Given the description of an element on the screen output the (x, y) to click on. 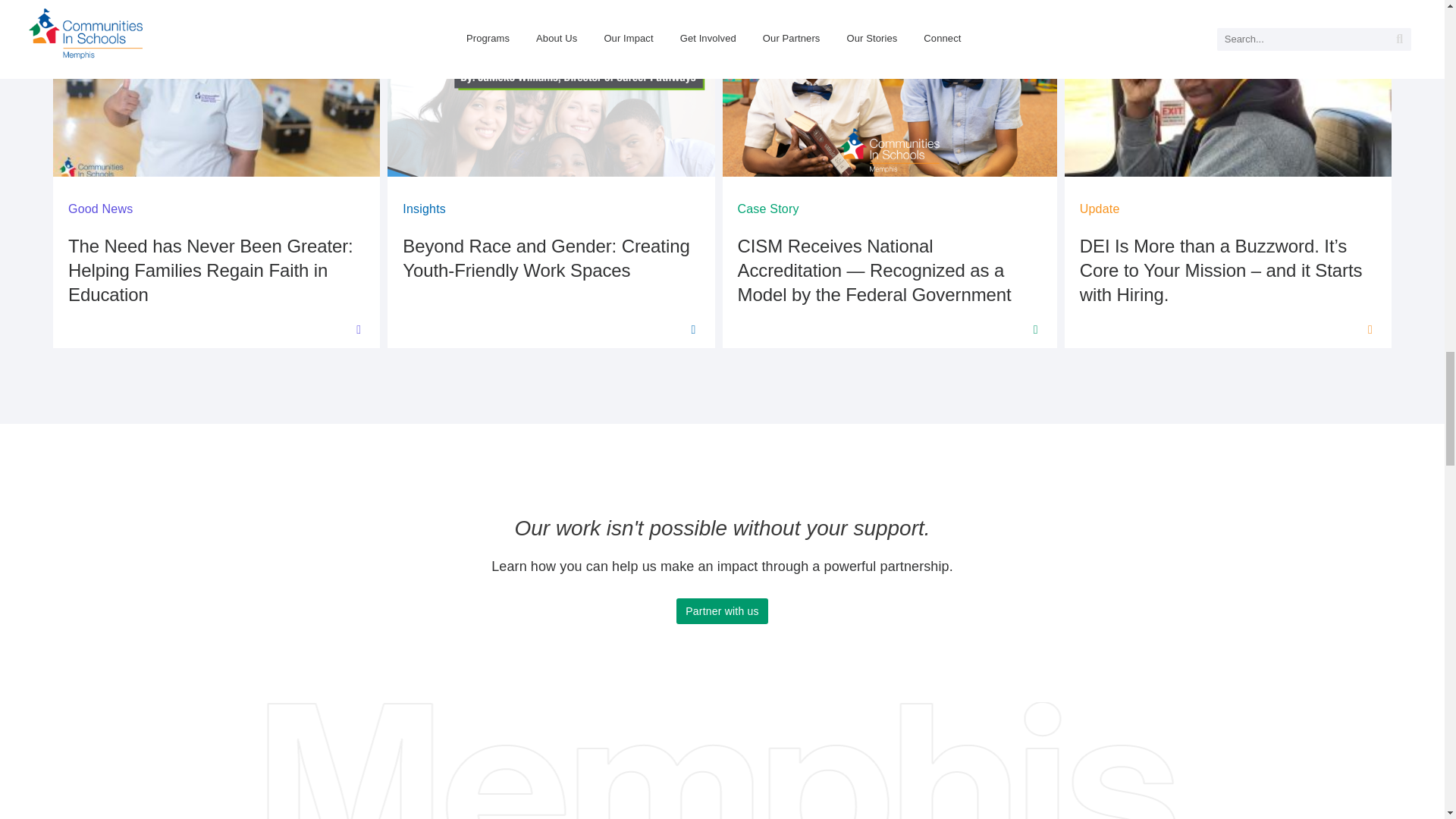
SA100210 (216, 88)
beyond-race-and-gender-jameko-williams (550, 88)
national-accredidation-cism (889, 88)
